Given the description of an element on the screen output the (x, y) to click on. 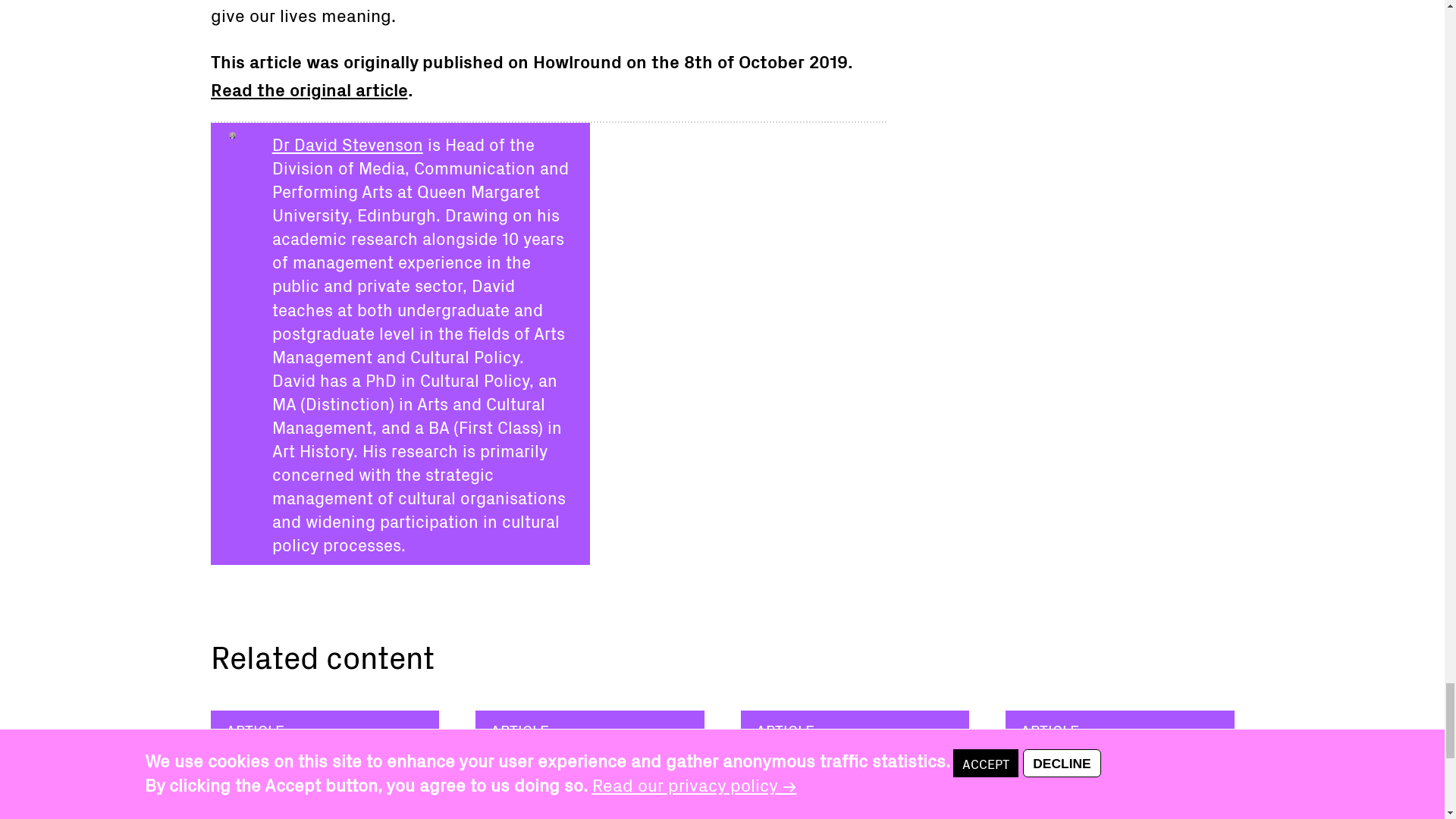
Dr David Stevenson (347, 143)
Willing change in a world of many crises (584, 780)
Escaping the Imaginary of Engaged Arts (299, 780)
Read the original article (309, 88)
